Given the description of an element on the screen output the (x, y) to click on. 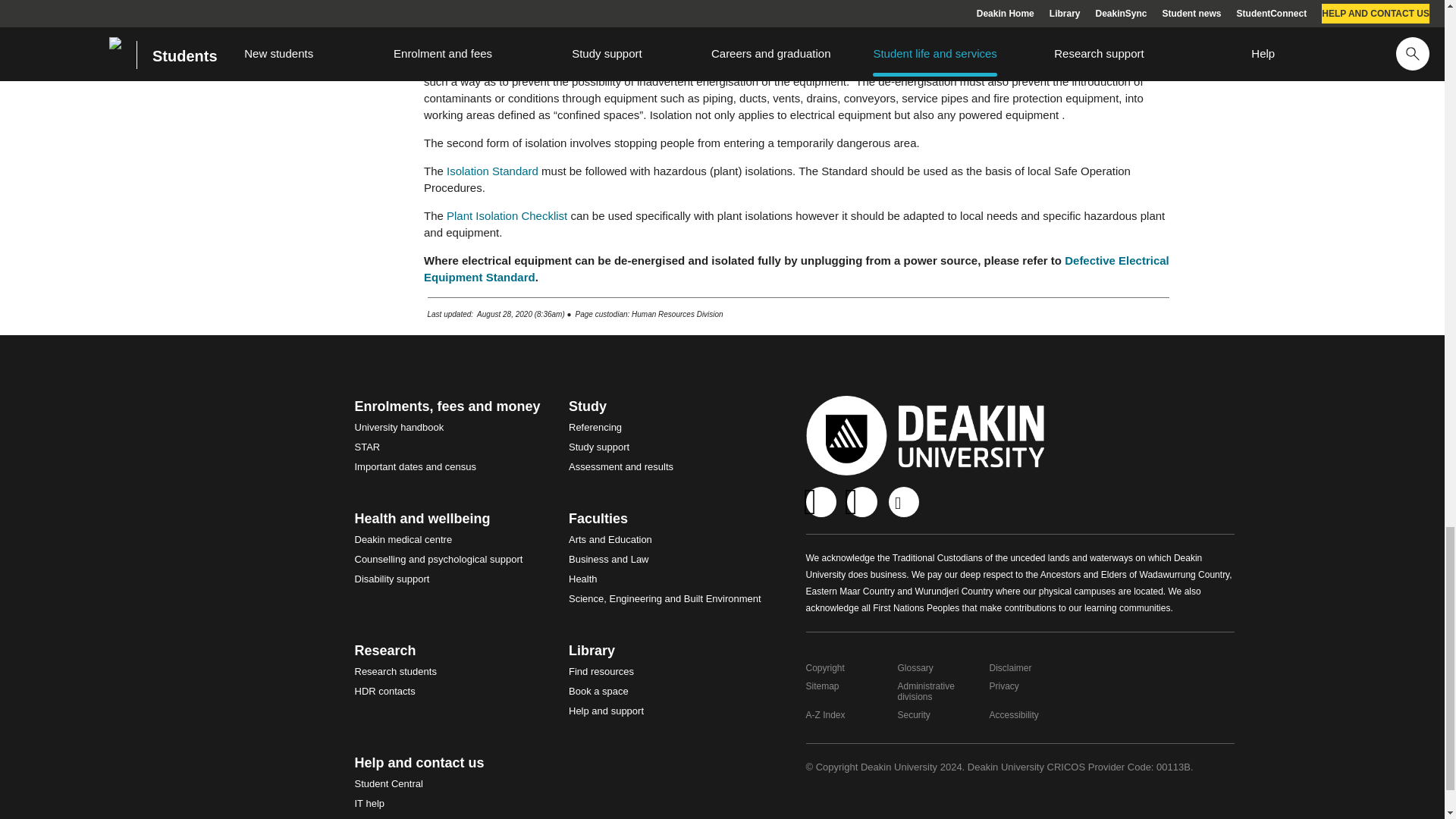
dl (903, 501)
Facebook (820, 501)
Instagram (862, 501)
